Given the description of an element on the screen output the (x, y) to click on. 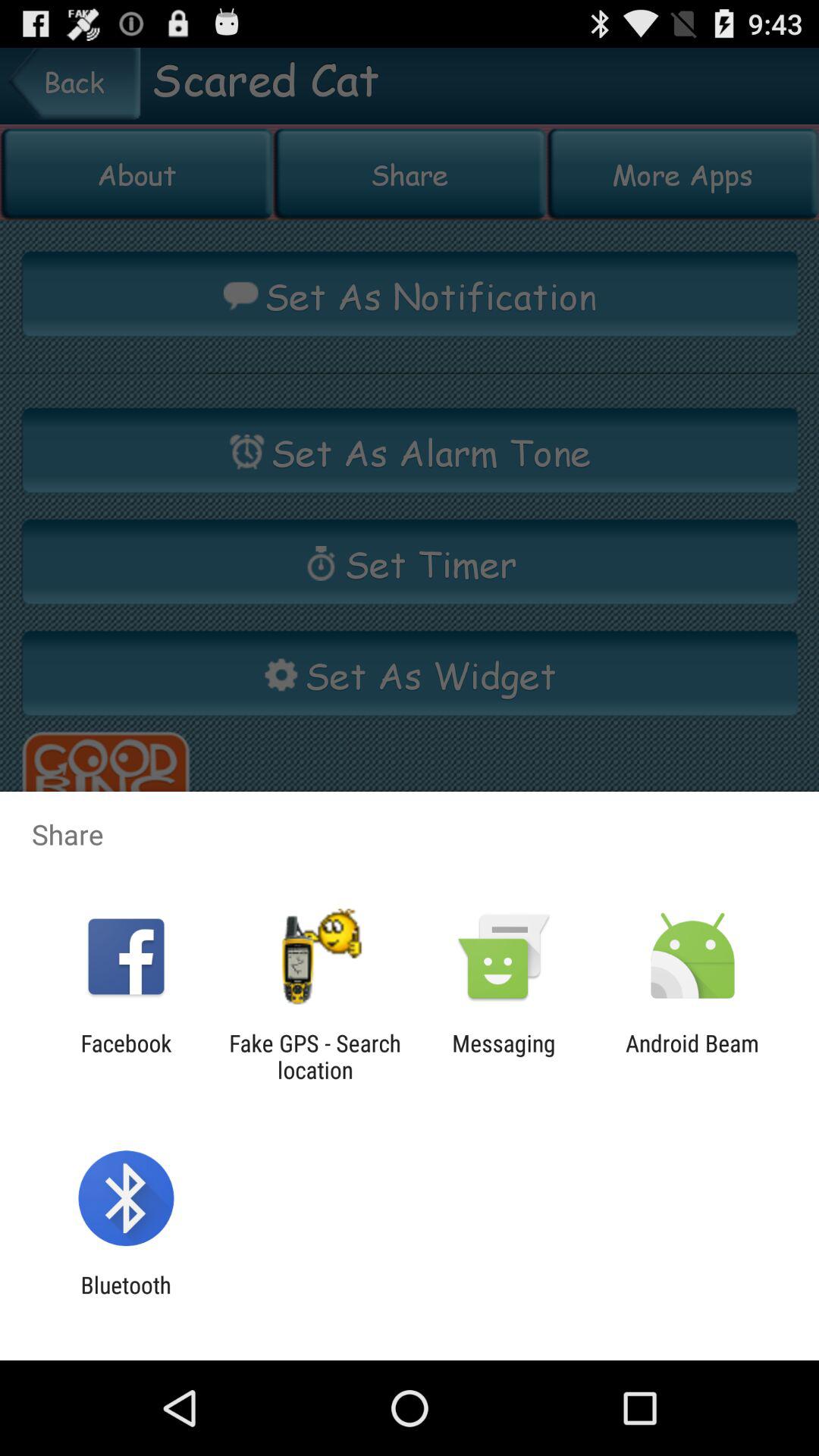
swipe until the bluetooth icon (125, 1298)
